Given the description of an element on the screen output the (x, y) to click on. 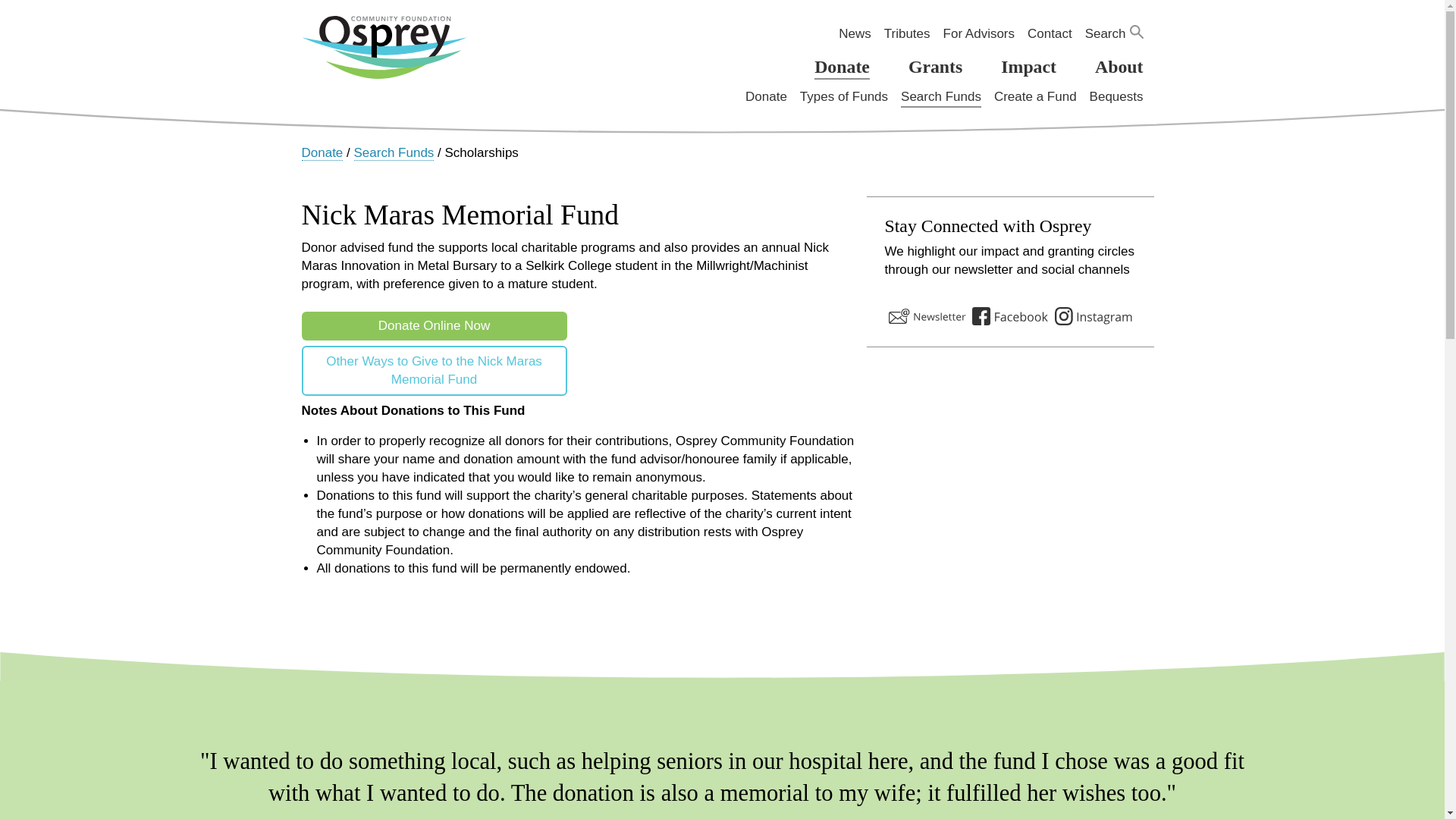
Donate (322, 152)
About (1118, 67)
Donate (841, 67)
Impact (1029, 67)
For Advisors (978, 34)
Osprey Community Foundation (384, 46)
Search Funds (941, 97)
News (854, 34)
Types of Funds (843, 97)
Bequests (1115, 97)
Create a Fund (1035, 97)
Contact (1049, 34)
Donate (766, 97)
Grants (935, 67)
Tributes (906, 34)
